Given the description of an element on the screen output the (x, y) to click on. 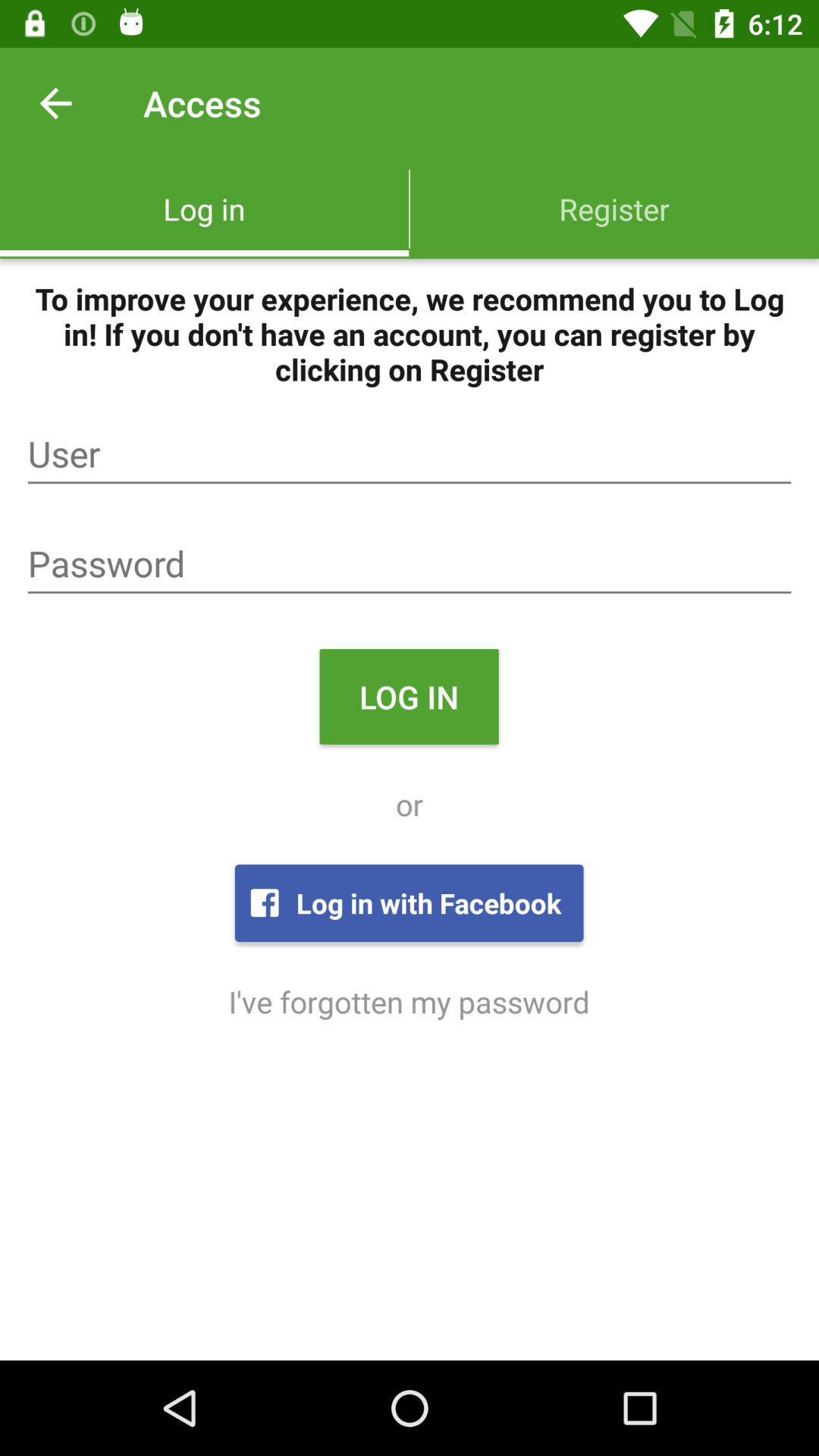
enter password (409, 564)
